Given the description of an element on the screen output the (x, y) to click on. 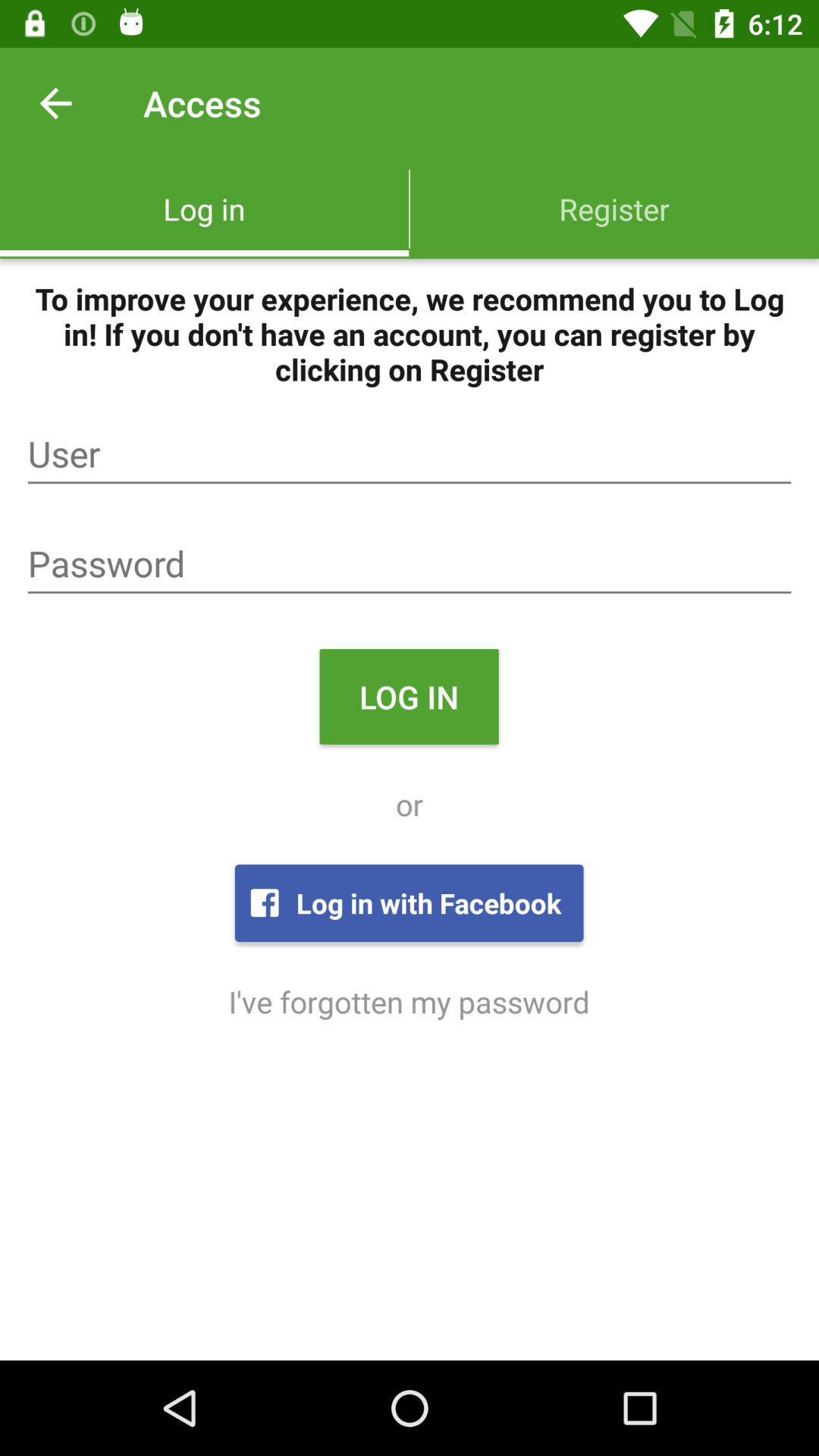
enter password (409, 564)
